Given the description of an element on the screen output the (x, y) to click on. 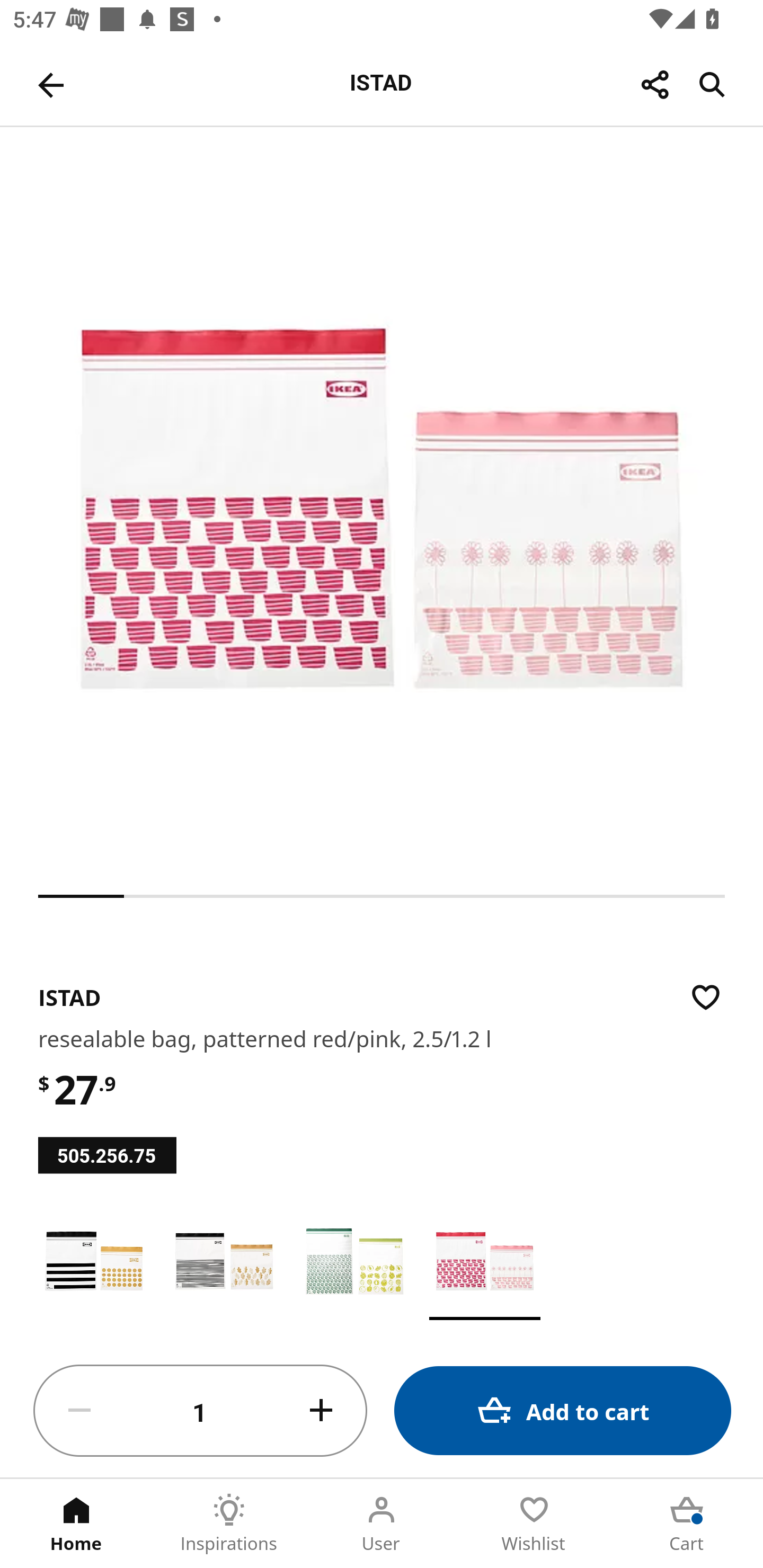
Add to cart (562, 1410)
1 (200, 1411)
Home
Tab 1 of 5 (76, 1522)
Inspirations
Tab 2 of 5 (228, 1522)
User
Tab 3 of 5 (381, 1522)
Wishlist
Tab 4 of 5 (533, 1522)
Cart
Tab 5 of 5 (686, 1522)
